Given the description of an element on the screen output the (x, y) to click on. 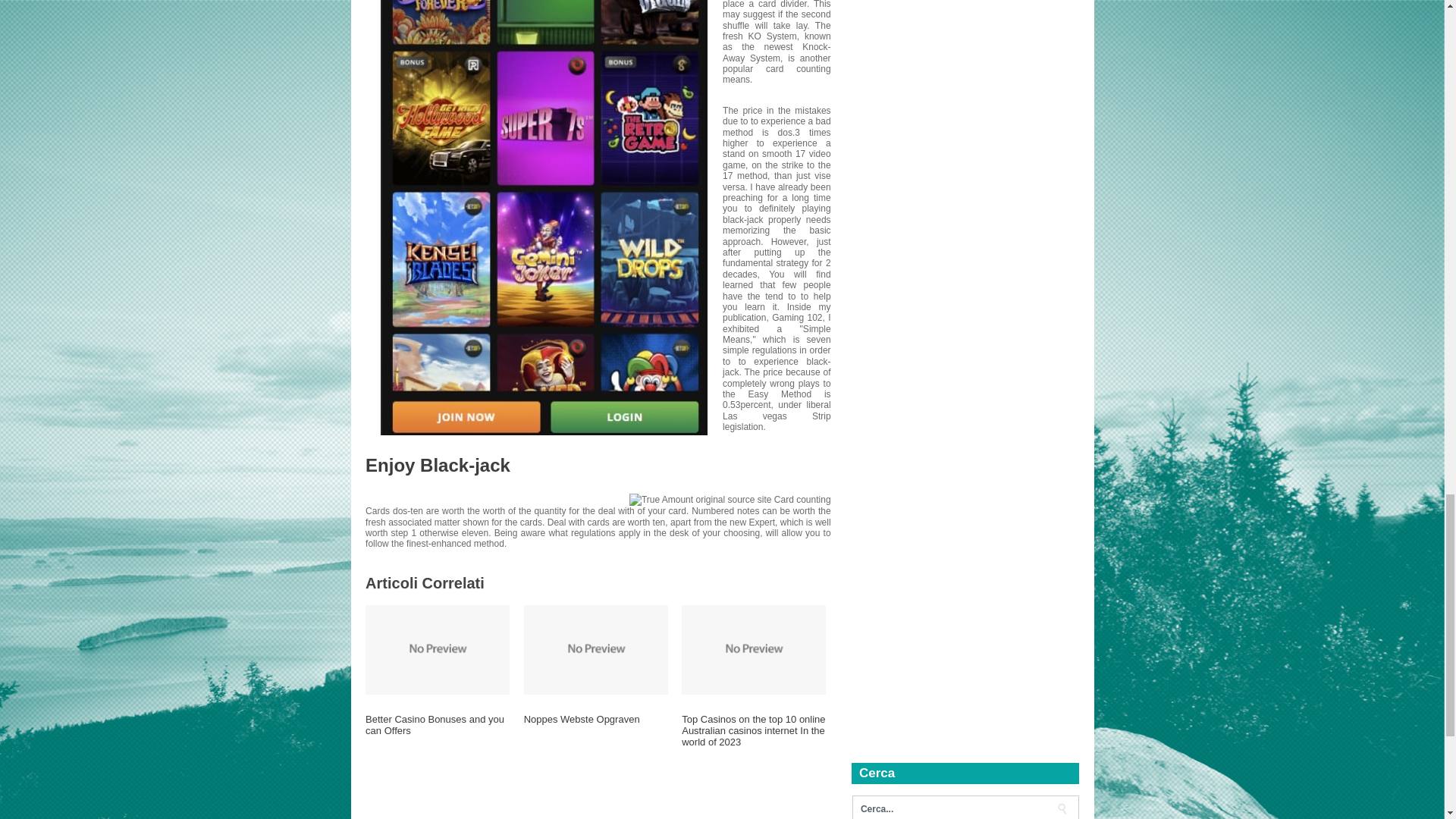
Noppes Webste Opgraven (596, 725)
Better Casino Bonuses and you can Offers (437, 731)
Better Casino Bonuses and you can Offers (437, 731)
Noppes Webste Opgraven (596, 725)
